Given the description of an element on the screen output the (x, y) to click on. 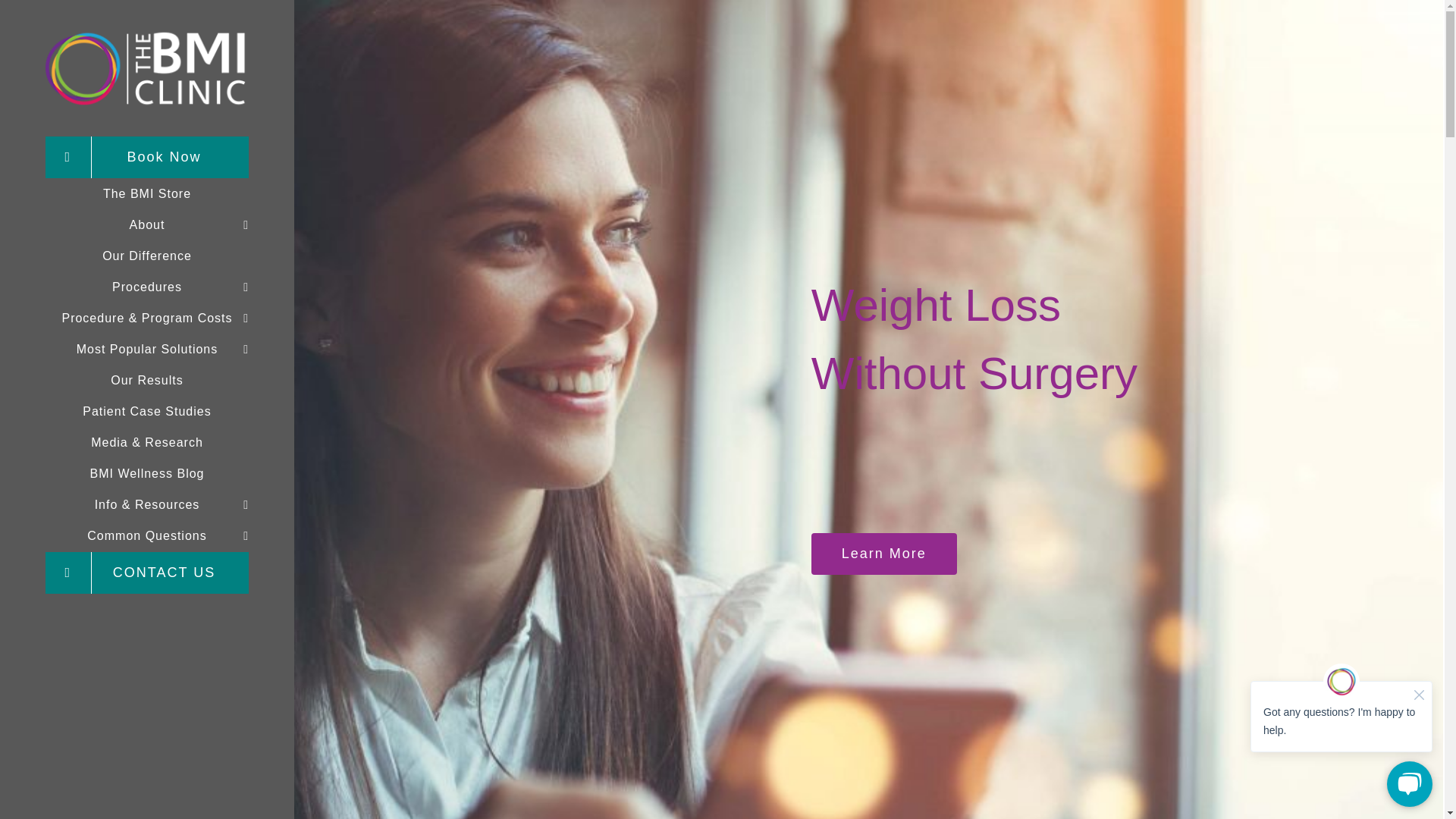
About (147, 224)
Book Now (147, 157)
Our Results (147, 380)
Our Difference (147, 255)
Most Popular Solutions (147, 349)
The BMI Store (147, 194)
Procedures (147, 287)
